Given the description of an element on the screen output the (x, y) to click on. 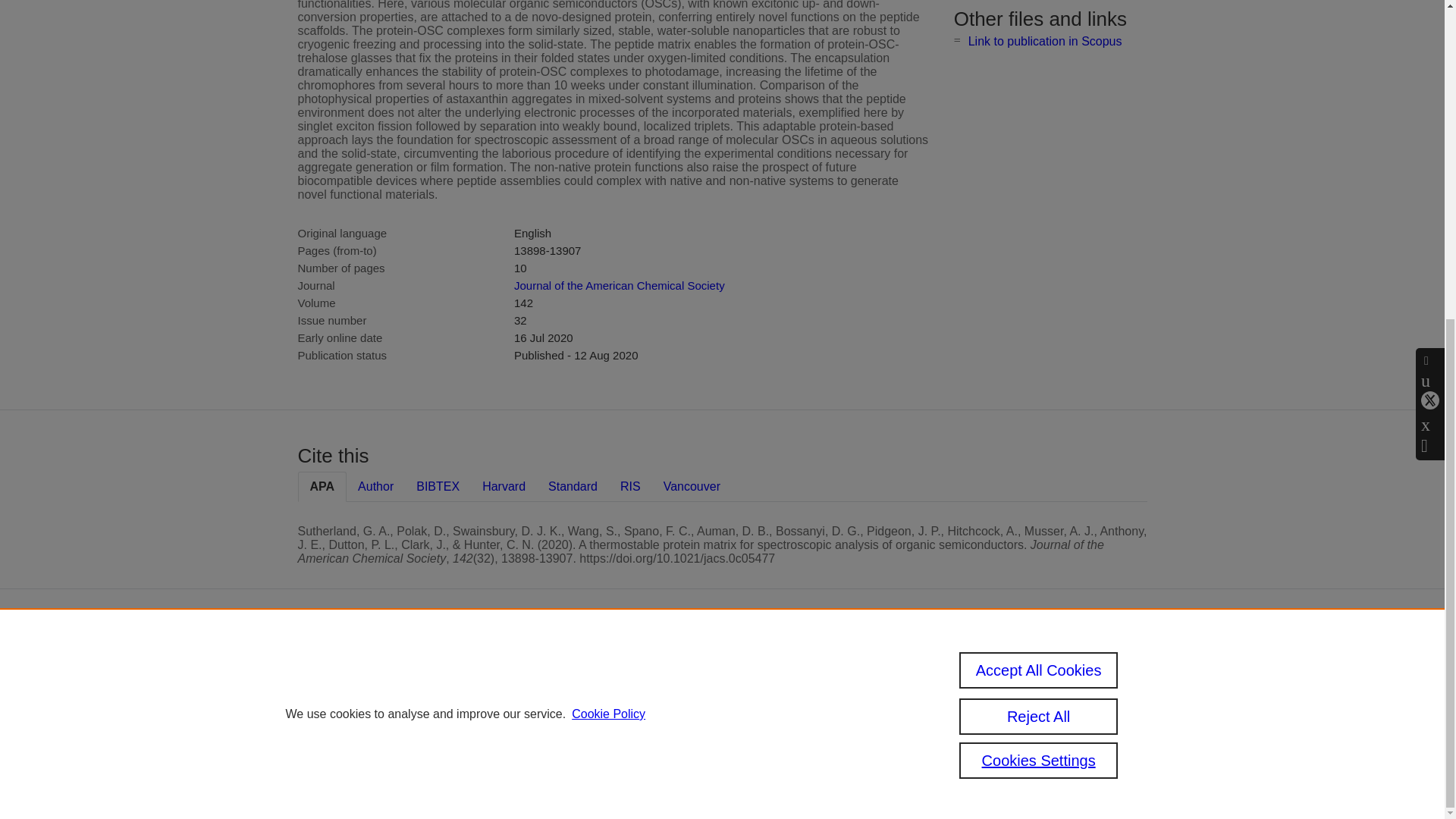
Cookie Policy (608, 196)
Report vulnerability (1021, 739)
University of East Anglia data protection policy (1027, 675)
Log in to Pure (584, 780)
Pure (620, 664)
Scopus (652, 664)
Cookies Settings (591, 760)
Elsevier B.V. (764, 685)
Link to publication in Scopus (1045, 41)
Contact us (1125, 670)
